Given the description of an element on the screen output the (x, y) to click on. 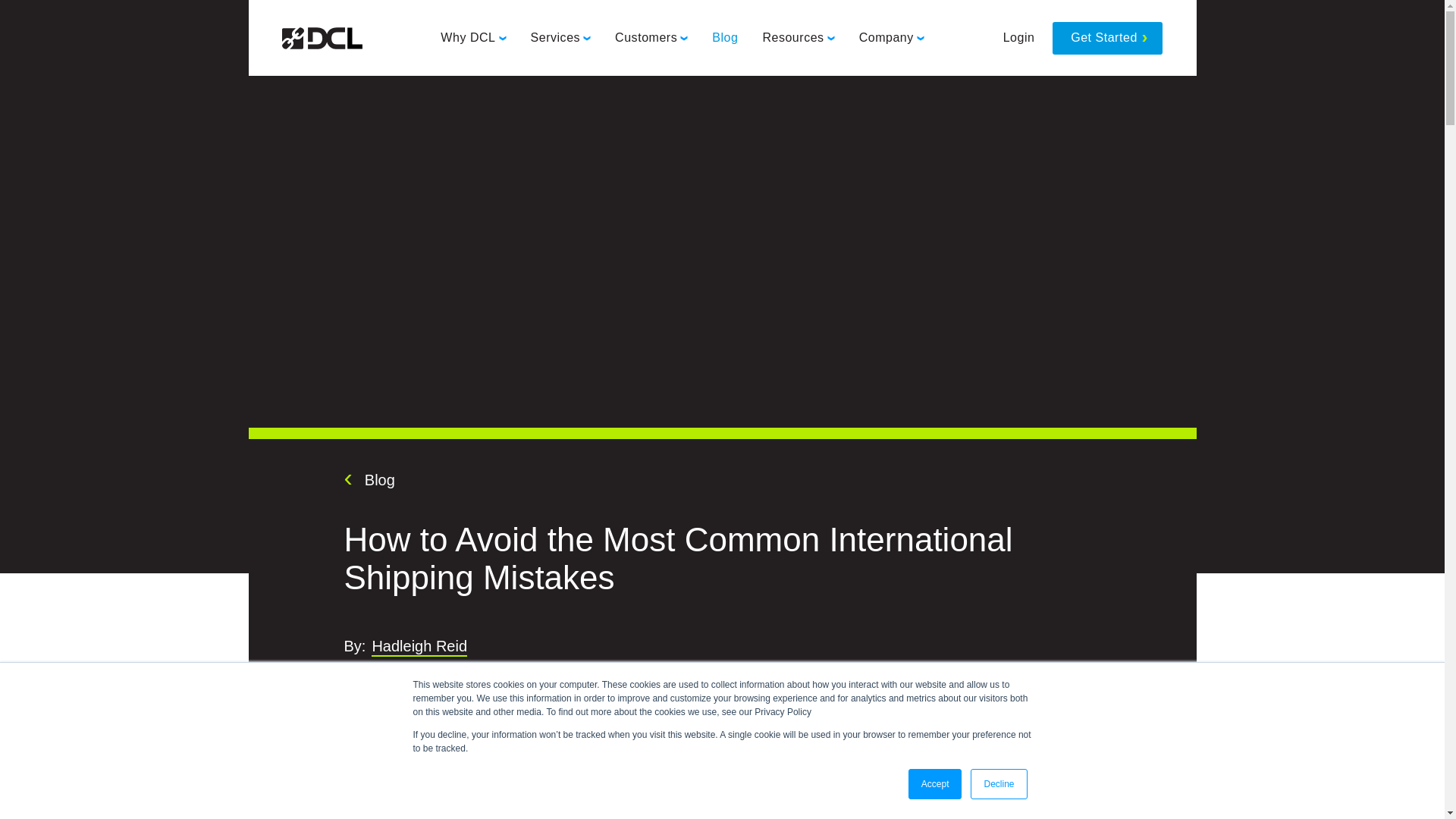
Accept (935, 784)
Return to homepage (322, 38)
Hadleigh Reid (419, 647)
Decline (998, 784)
Customers (650, 37)
Services (560, 37)
Posts by Hadleigh Reid (419, 647)
Company (891, 37)
Shipping (444, 676)
Get Started (1106, 37)
Why DCL (473, 37)
Login (1019, 37)
Blog (368, 479)
Blog (725, 37)
Resources (797, 37)
